Given the description of an element on the screen output the (x, y) to click on. 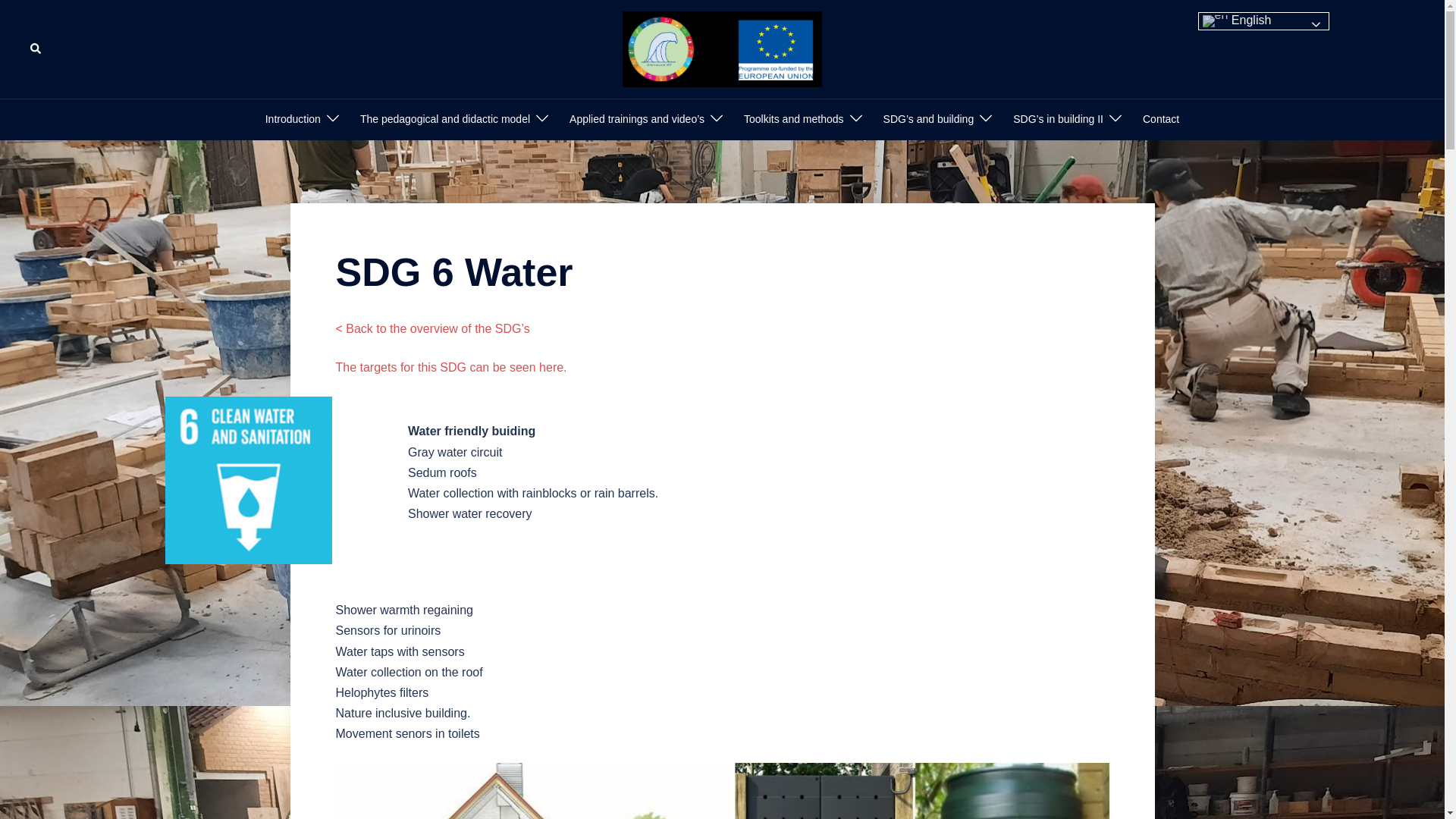
Green wave in VET (722, 47)
Search (36, 49)
Introduction (292, 119)
Toolkits and methods (794, 119)
The pedagogical and didactic model (444, 119)
